Given the description of an element on the screen output the (x, y) to click on. 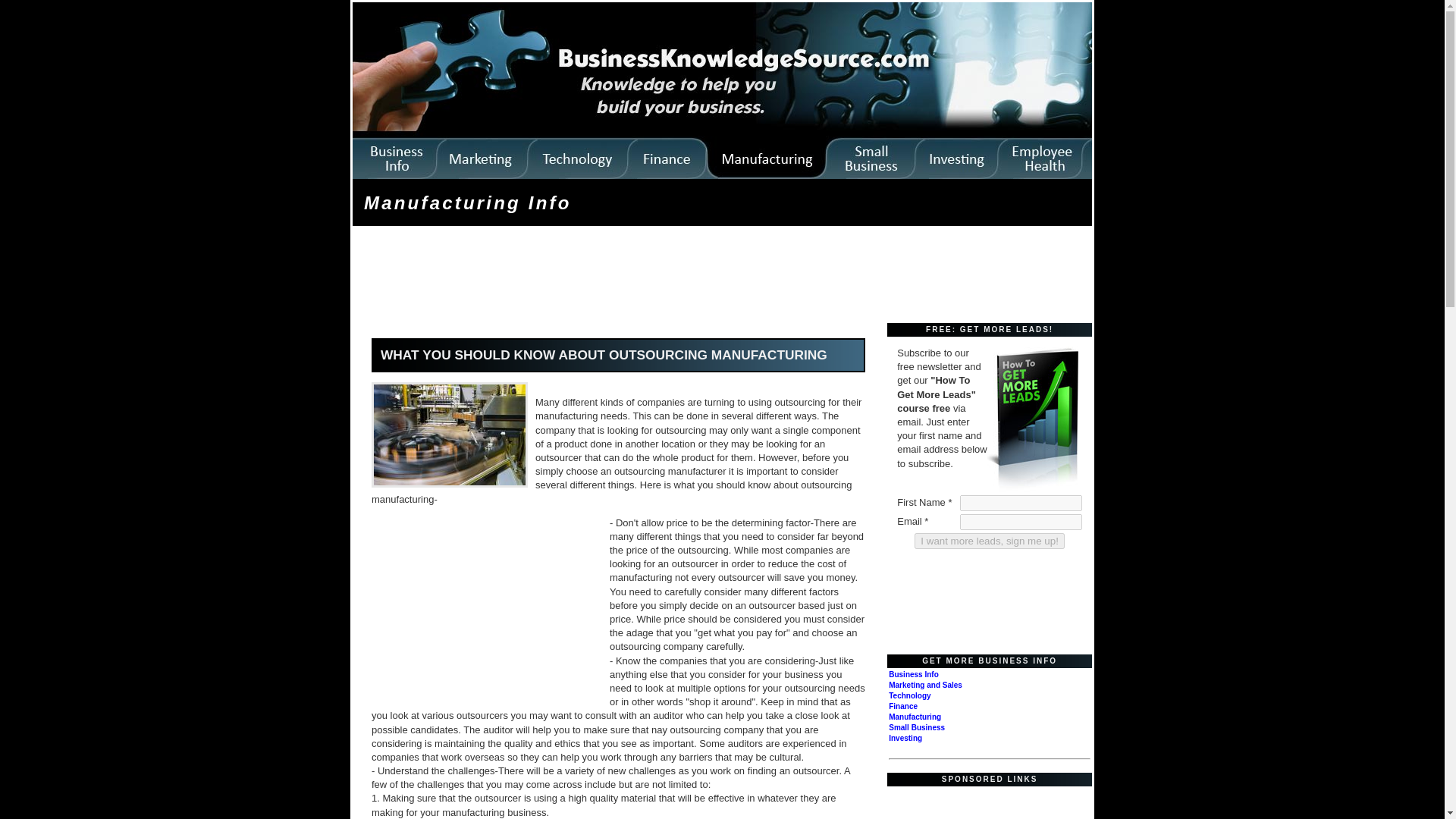
Advertisement (485, 612)
Technology (909, 695)
Business Info (913, 674)
Investing (904, 737)
Small Business (916, 727)
Manufacturing (914, 716)
Advertisement (631, 275)
I want more leads, sign me up! (989, 540)
Finance (902, 705)
Manufacturing Info (468, 202)
